Given the description of an element on the screen output the (x, y) to click on. 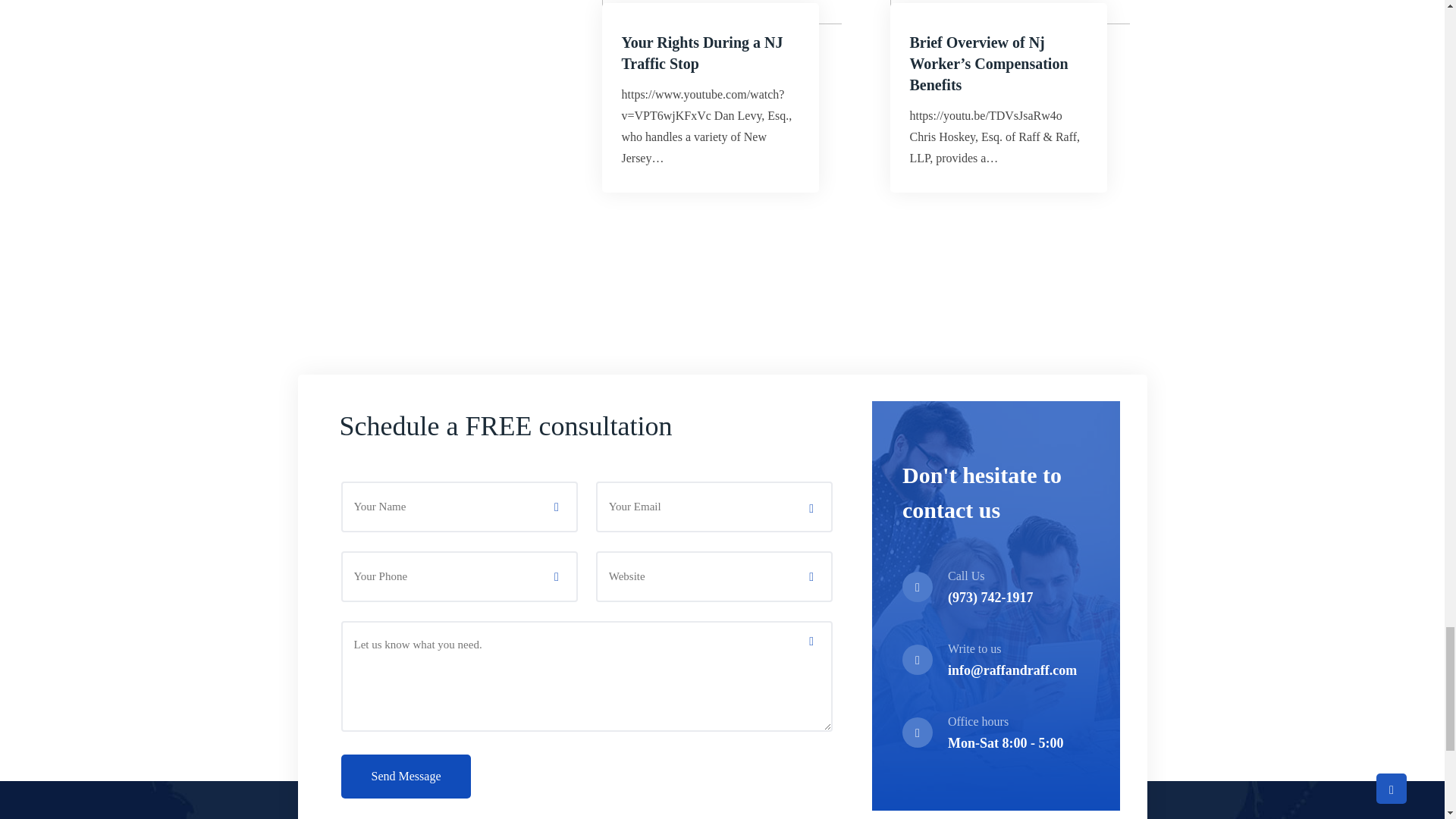
Send Message (405, 776)
